Given the description of an element on the screen output the (x, y) to click on. 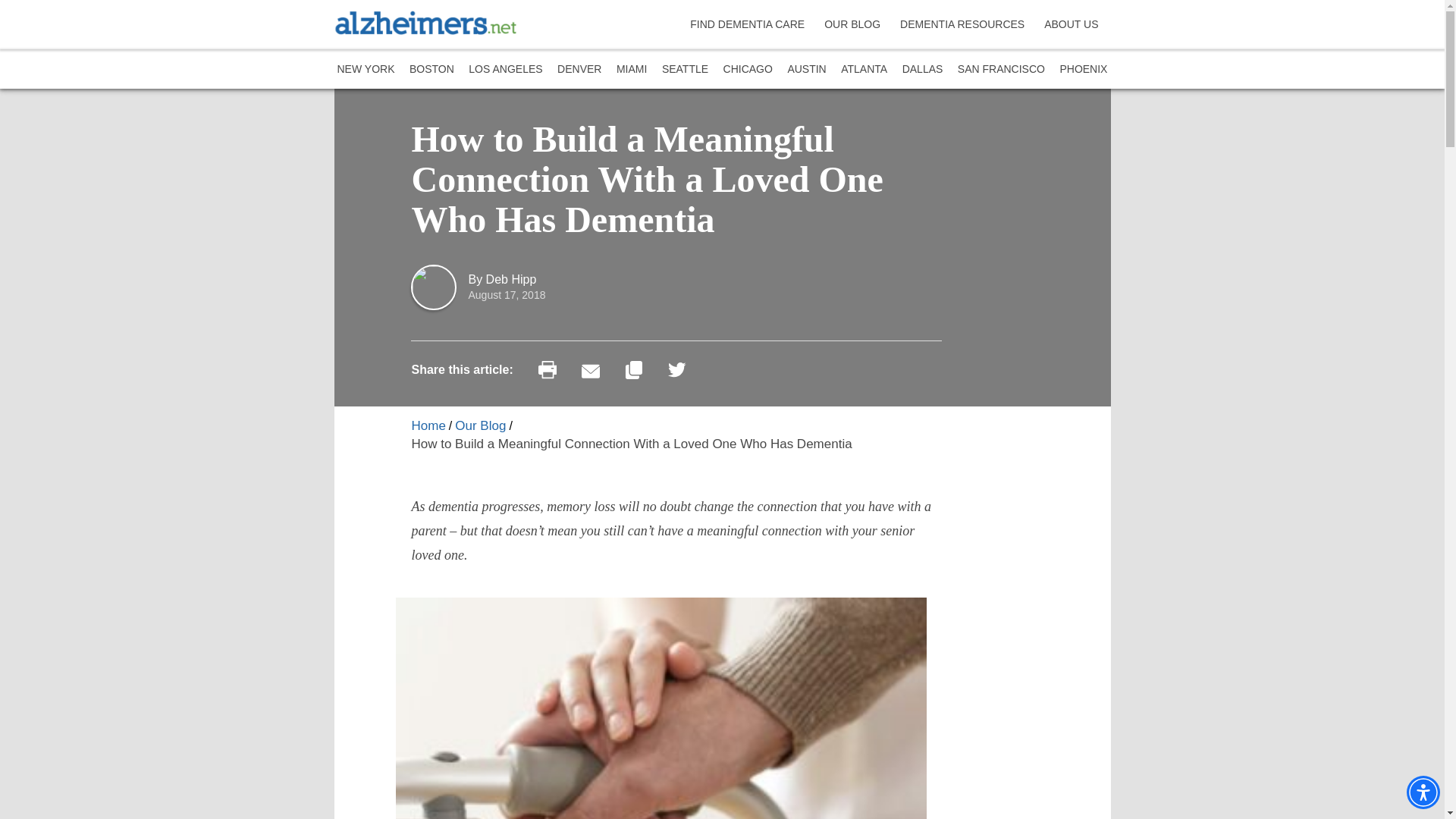
AUSTIN (806, 68)
DEMENTIA RESOURCES (964, 24)
PHOENIX (1083, 68)
BOSTON (431, 68)
OUR BLOG (854, 24)
ATLANTA (863, 68)
DENVER (579, 68)
CHICAGO (748, 68)
Our Blog (479, 425)
LOS ANGELES (504, 68)
ABOUT US (1072, 24)
MIAMI (630, 68)
SAN FRANCISCO (1001, 68)
Accessibility Menu (1422, 792)
FIND DEMENTIA CARE (749, 24)
